Given the description of an element on the screen output the (x, y) to click on. 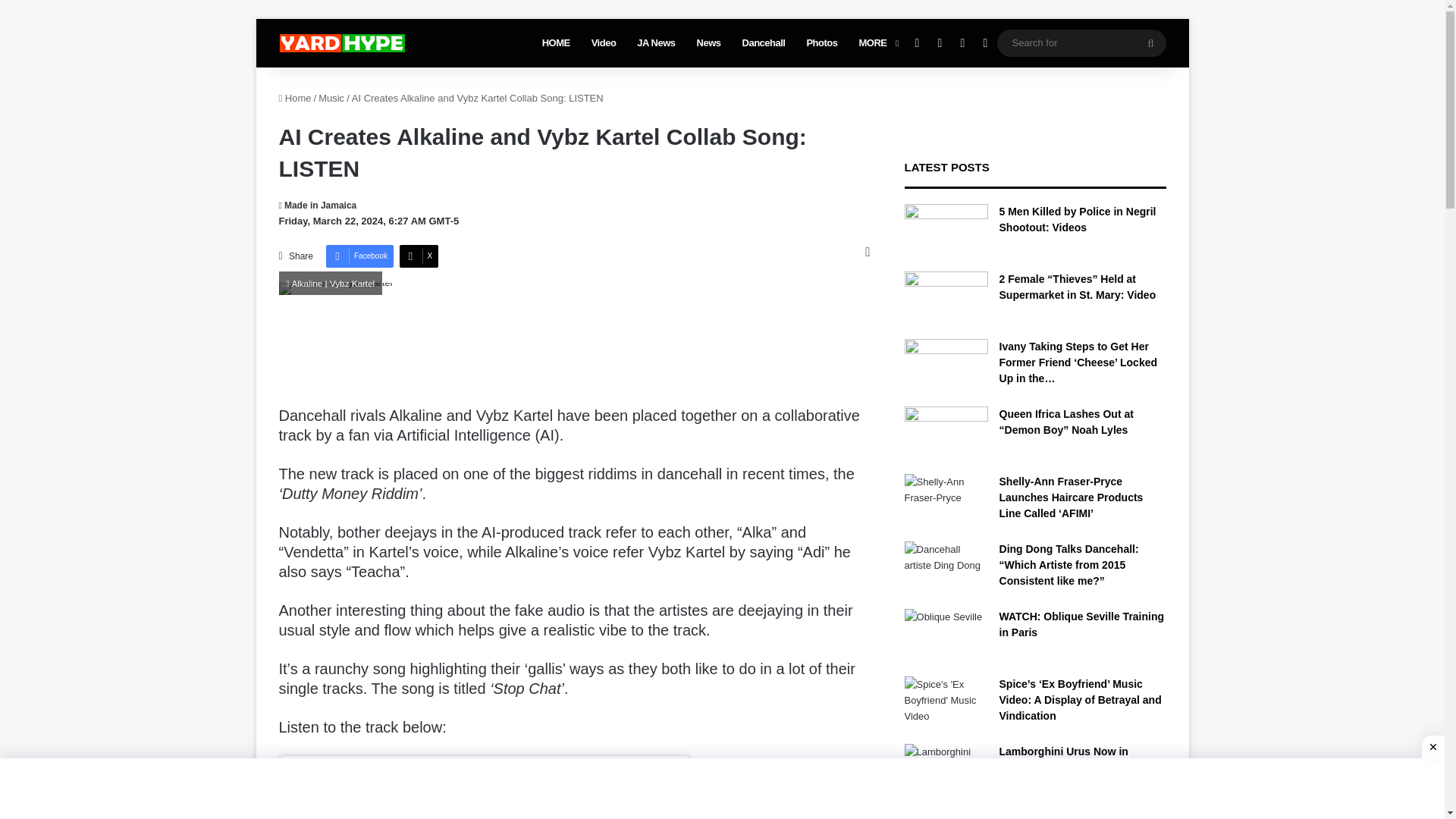
JA News (655, 42)
X (418, 255)
X (418, 255)
YARDHYPE (341, 43)
Facebook (916, 42)
View this post on Instagram (484, 811)
MORE (876, 42)
TikTok (984, 42)
Home (295, 98)
Made in Jamaica (317, 204)
News (708, 42)
Photos (820, 42)
Facebook (359, 255)
Music (330, 98)
Video (603, 42)
